Given the description of an element on the screen output the (x, y) to click on. 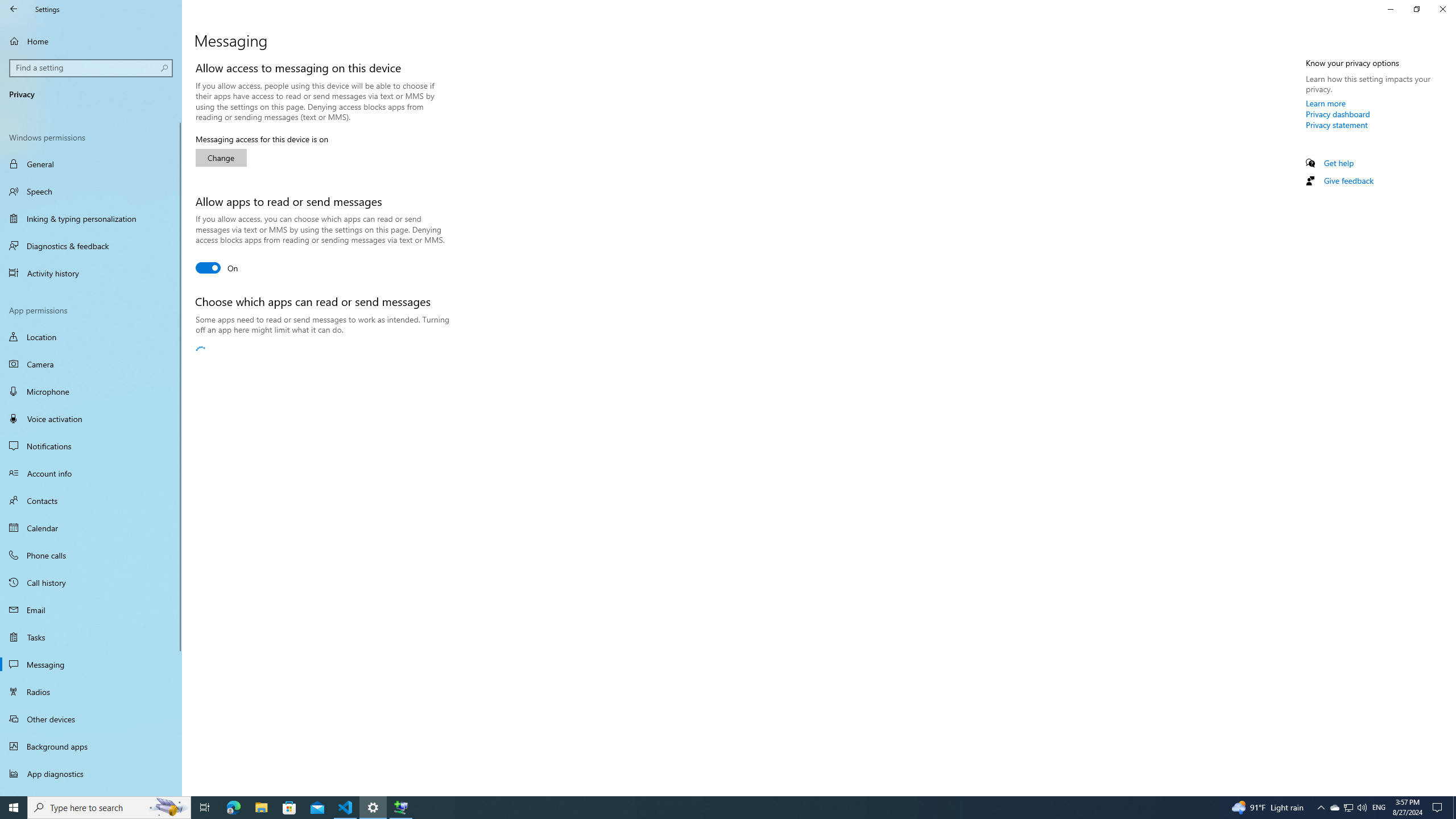
Privacy statement (1336, 124)
Automatic file downloads (91, 791)
General (91, 163)
Privacy dashboard (1338, 113)
Calendar (91, 527)
Background apps (91, 746)
Diagnostics & feedback (91, 245)
